Given the description of an element on the screen output the (x, y) to click on. 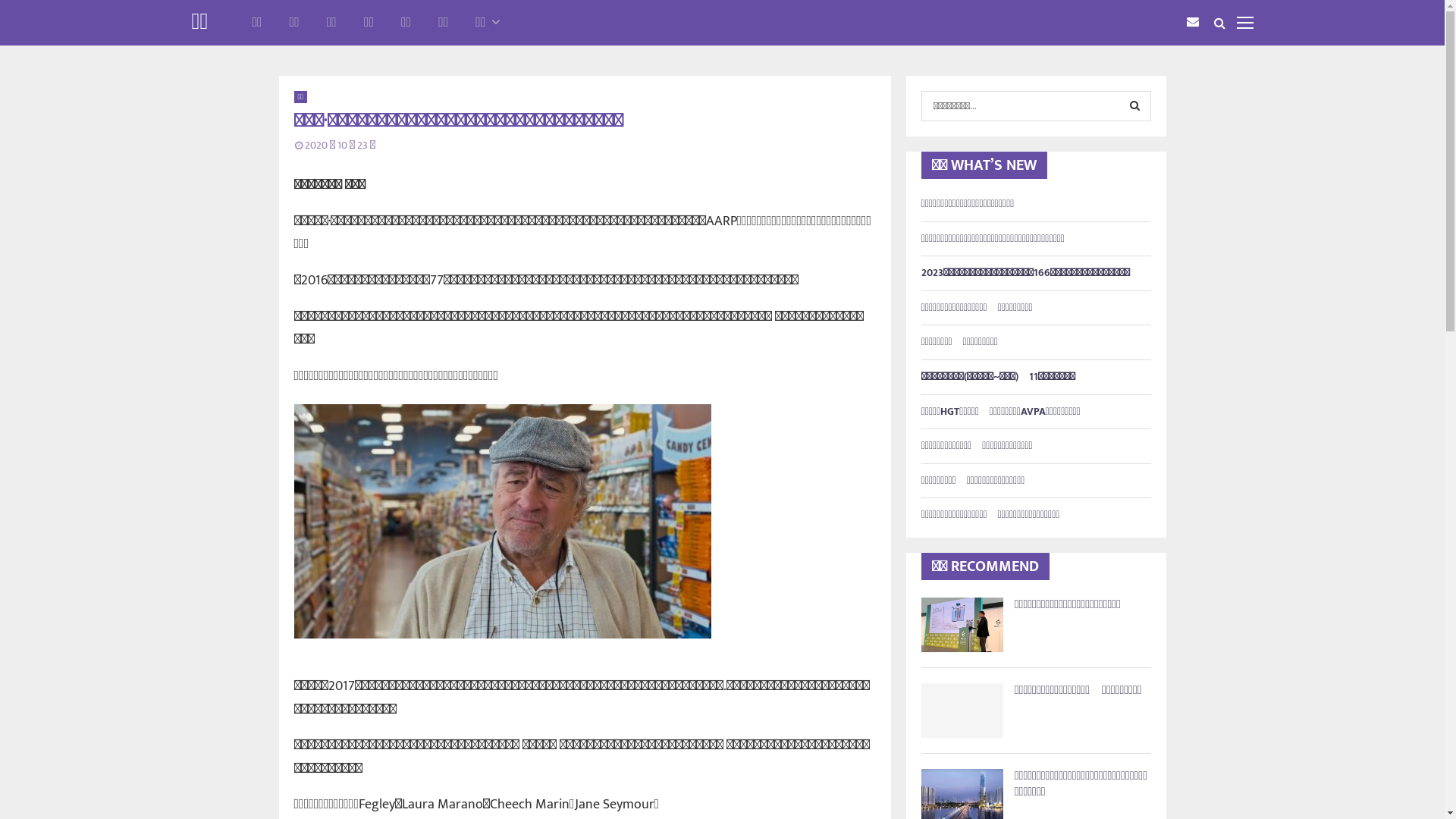
SEARCH Element type: text (1133, 106)
Email Element type: hover (1195, 22)
